Given the description of an element on the screen output the (x, y) to click on. 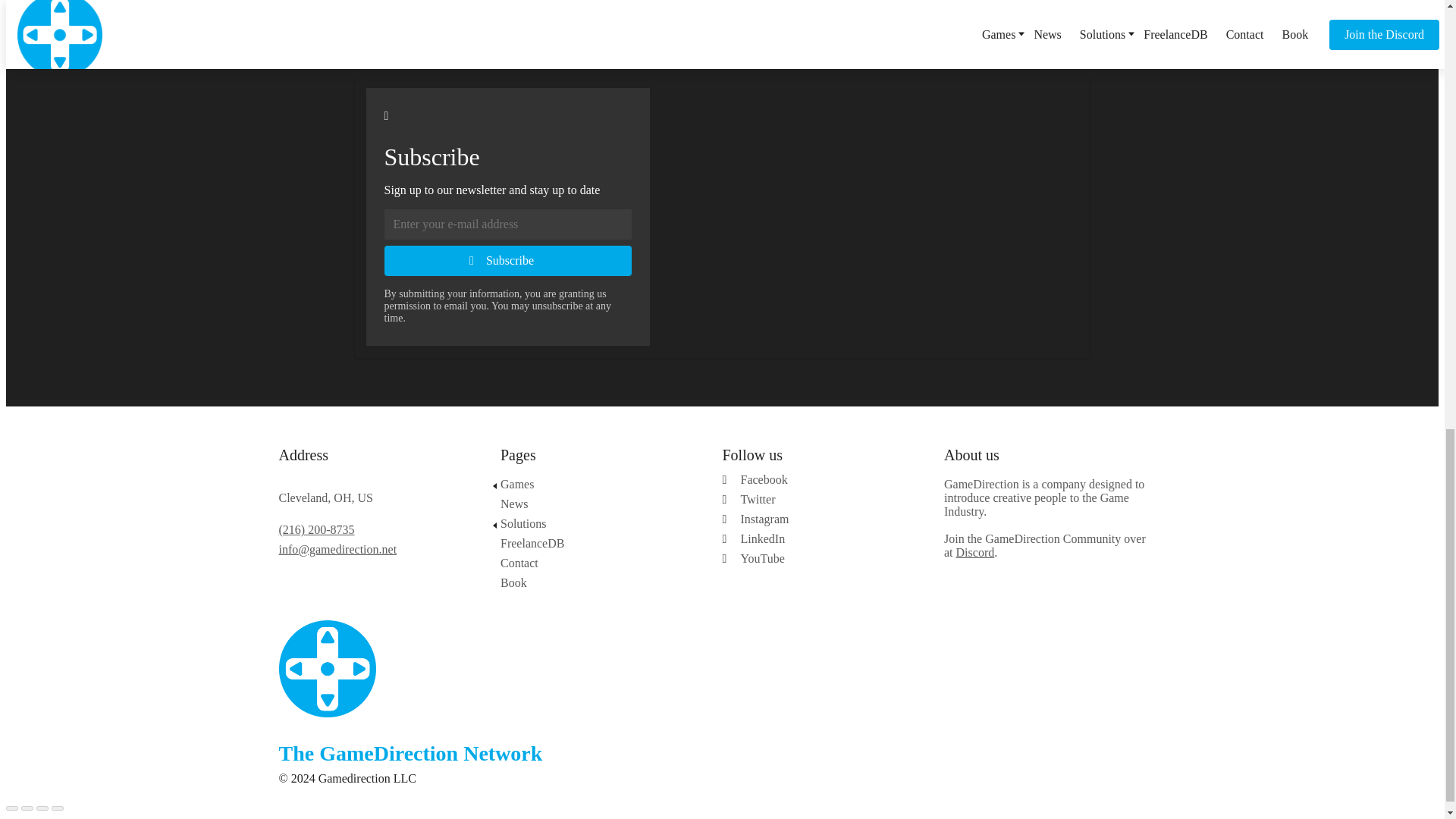
Book (596, 582)
Share (27, 807)
Subscribe (507, 260)
FreelanceDB (596, 543)
News (596, 504)
Contact (596, 563)
Twitter (826, 499)
Toggle fullscreen (42, 807)
Games (596, 484)
Facebook (826, 479)
